Given the description of an element on the screen output the (x, y) to click on. 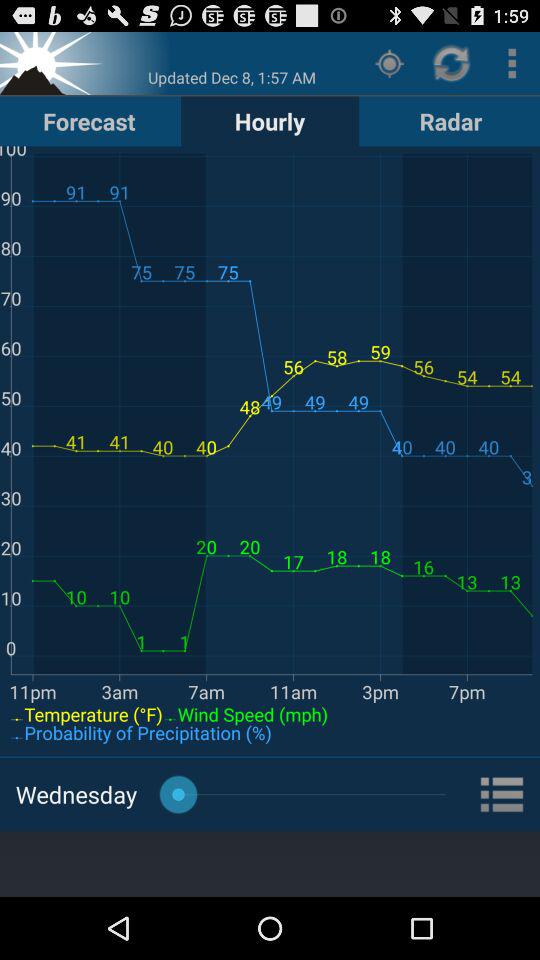
flip until the radar (450, 120)
